Given the description of an element on the screen output the (x, y) to click on. 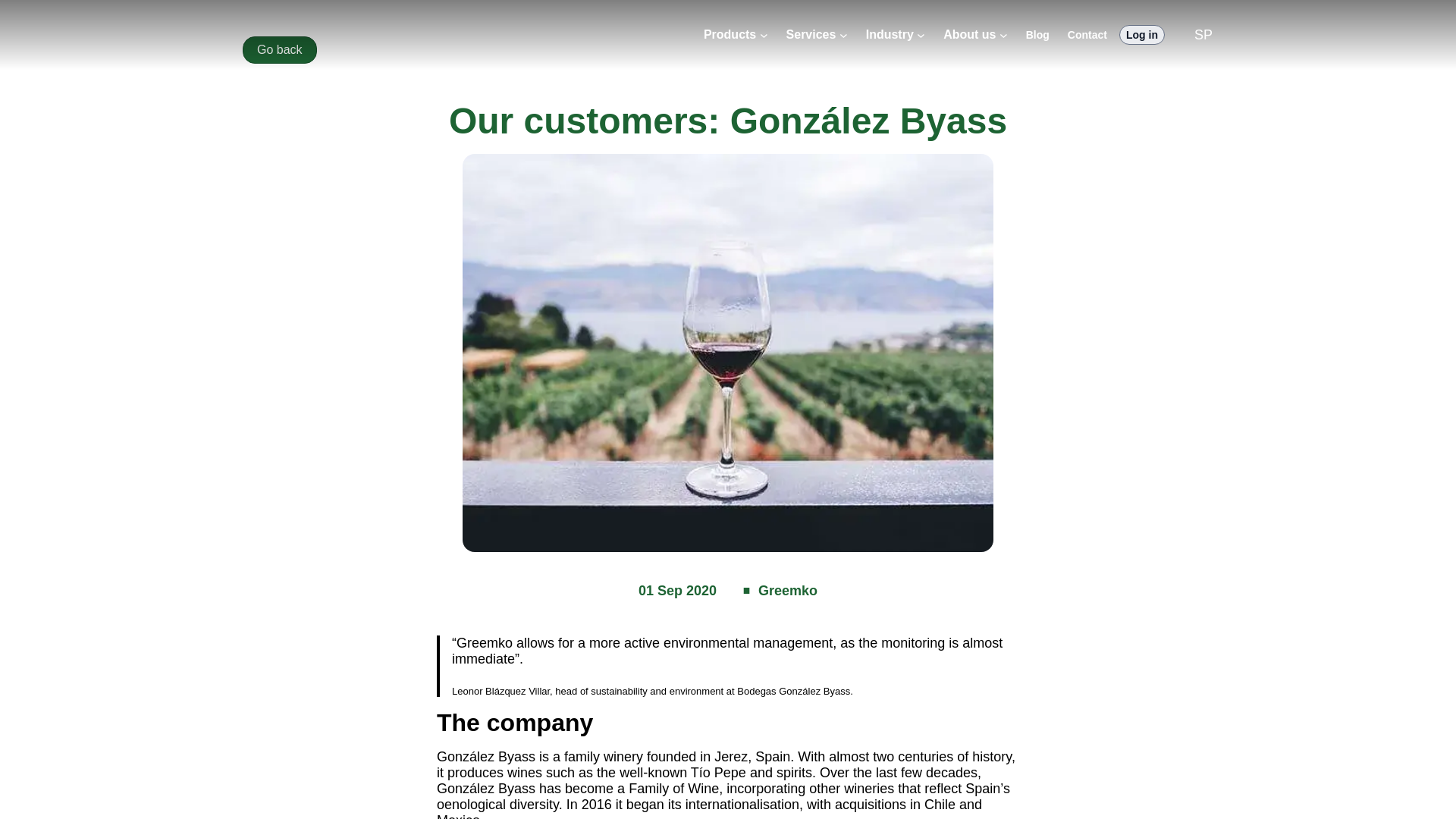
Products (729, 34)
About us (969, 34)
Industry (890, 34)
Services (810, 34)
